Given the description of an element on the screen output the (x, y) to click on. 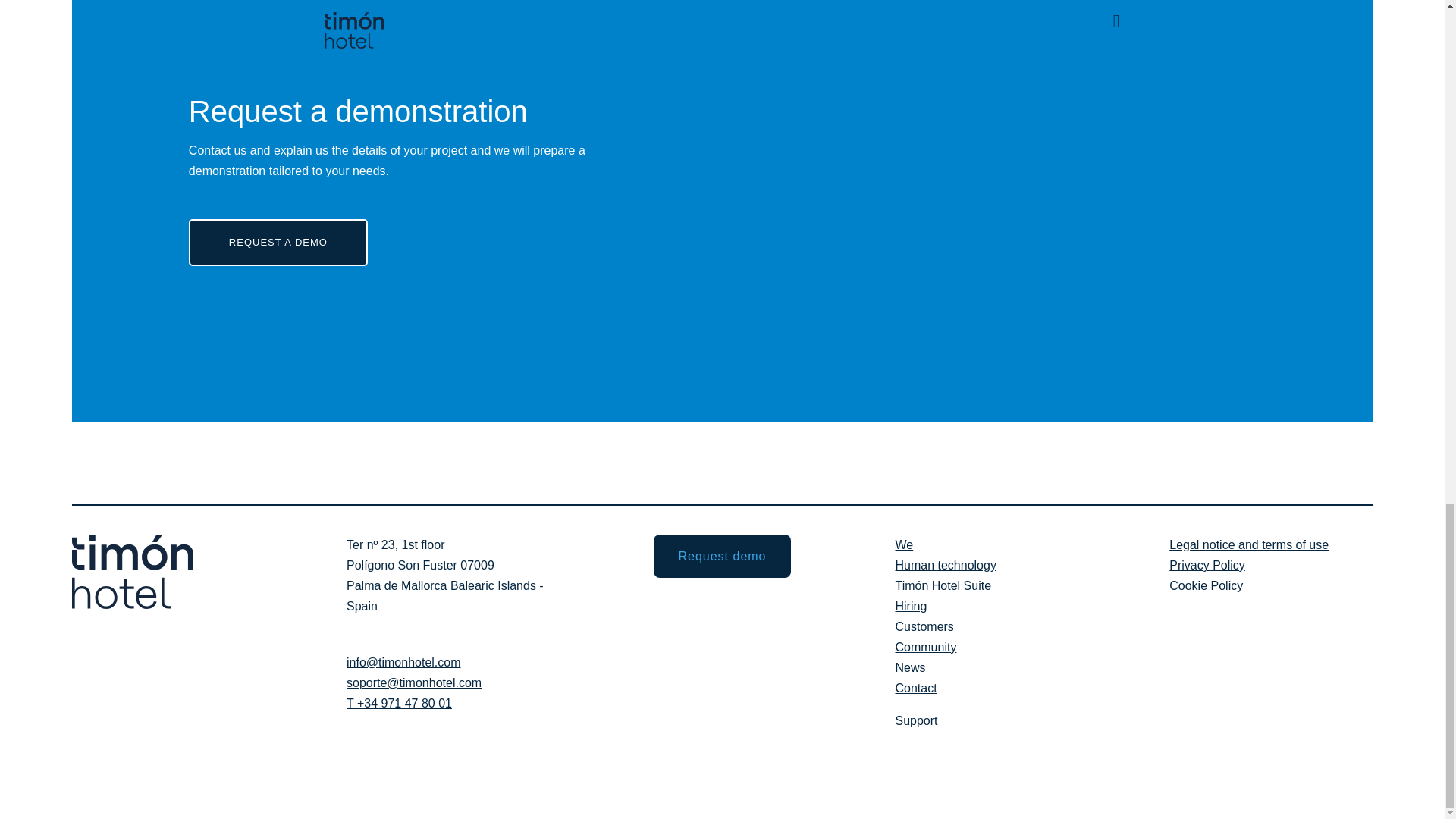
Support (916, 720)
Privacy Policy (1206, 564)
Contact (915, 687)
Customers (924, 626)
LOGO-TIMON-BLUE (132, 571)
Human technology (945, 564)
News (909, 667)
Hiring (910, 605)
We (903, 544)
Request demo (721, 556)
REQUEST A DEMO (278, 242)
Legal notice and terms of use (1248, 544)
Cookie Policy (1206, 585)
Community (925, 646)
